Given the description of an element on the screen output the (x, y) to click on. 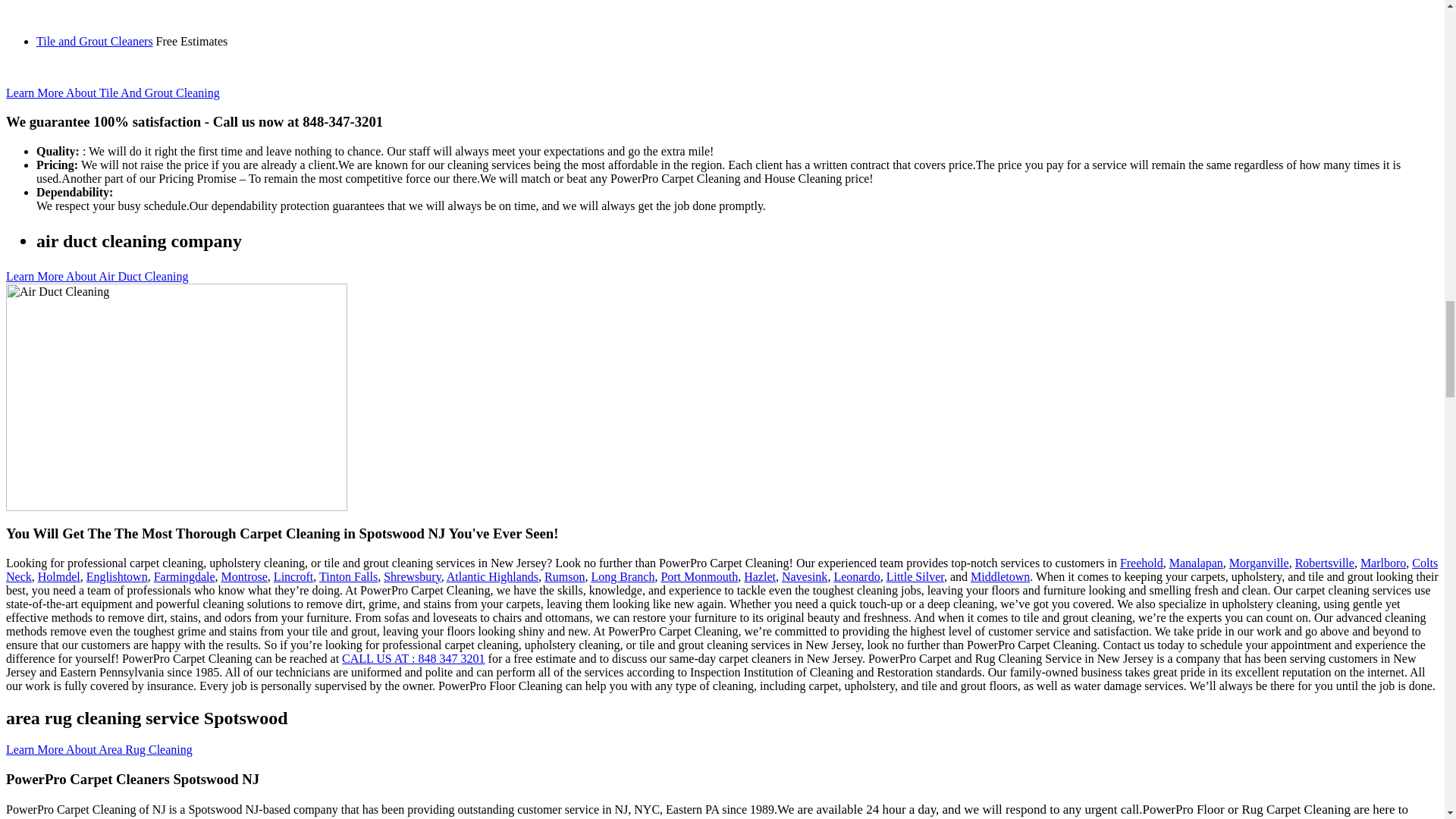
Lincroft (293, 576)
Englishtown (116, 576)
Atlantic Highlands (492, 576)
Morganville (1258, 562)
Tinton Falls (347, 576)
Robertsville (1324, 562)
Marlboro (1382, 562)
Holmdel (58, 576)
Farmingdale (184, 576)
Manalapan (1196, 562)
Port Monmouth (699, 576)
Shrewsbury (412, 576)
Colts Neck (721, 569)
Tile and Grout Cleaners (94, 41)
Rumson (564, 576)
